Given the description of an element on the screen output the (x, y) to click on. 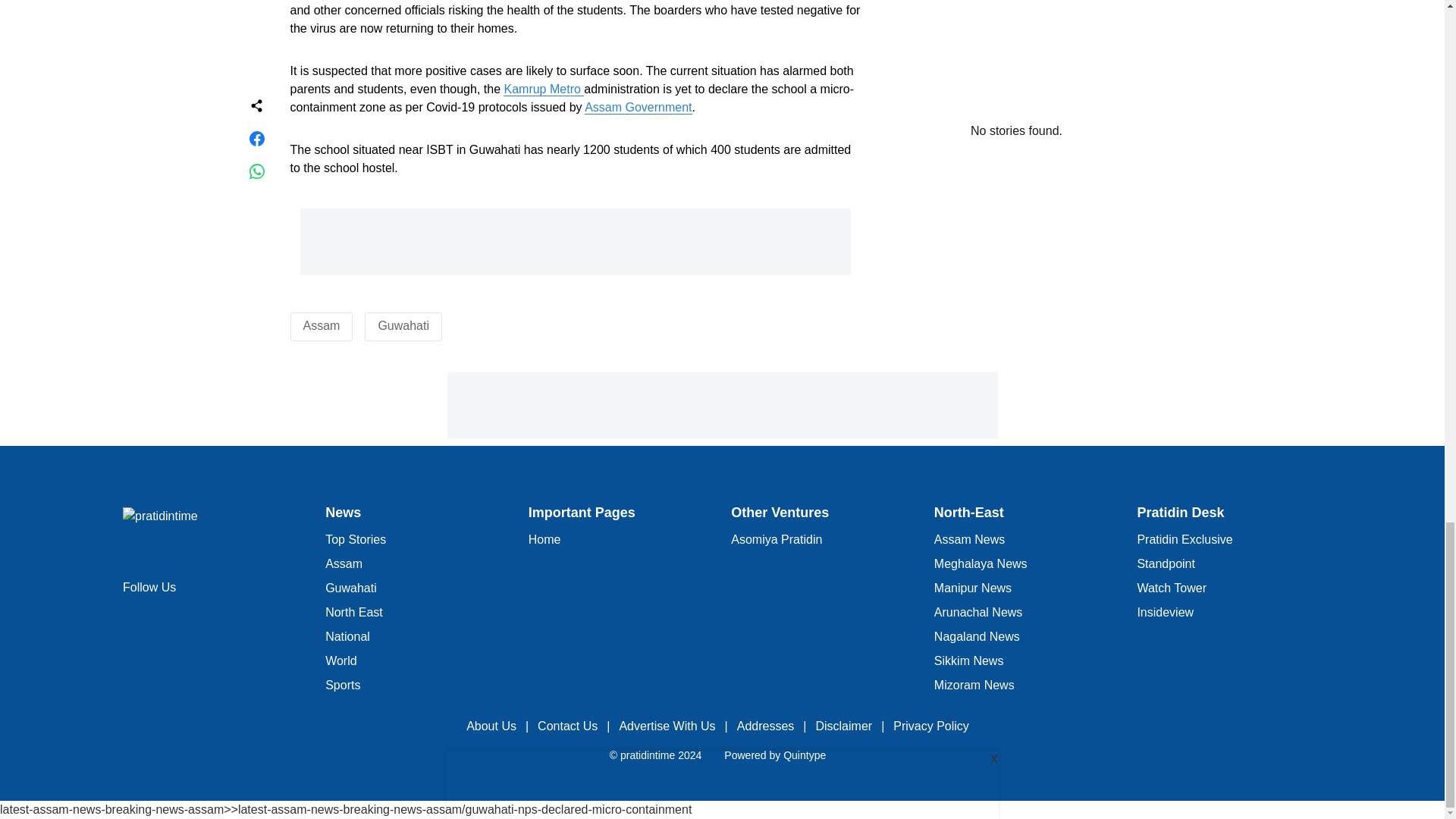
Assam Government (638, 107)
Assam (321, 325)
Kamrup Metro  (543, 89)
